Given the description of an element on the screen output the (x, y) to click on. 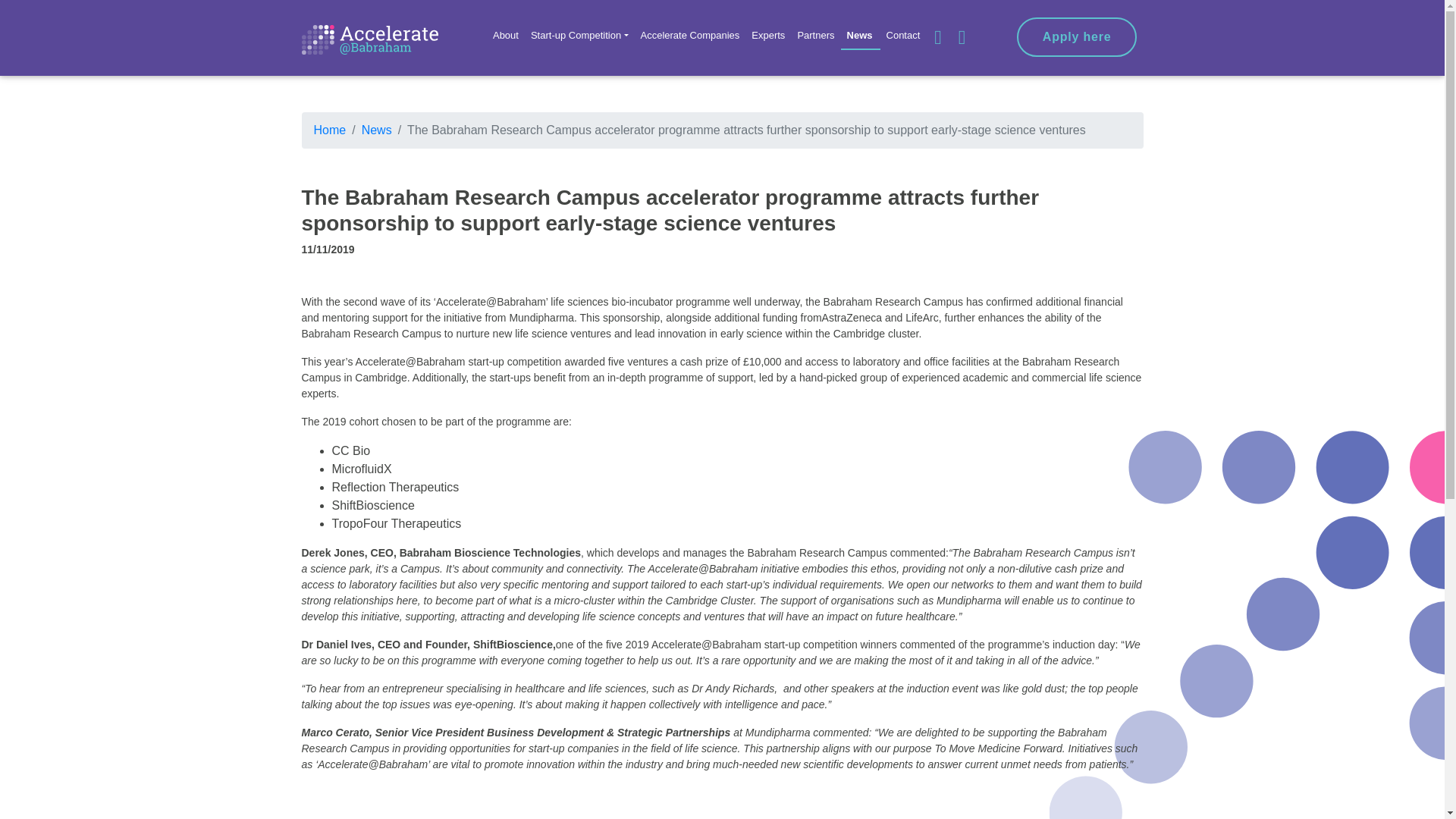
Contact (903, 35)
Apply here (1076, 36)
Start-up Competition (579, 35)
Partners (815, 35)
News (860, 35)
News (376, 130)
Home (330, 130)
About (505, 35)
Accelerate Companies (689, 35)
Experts (767, 35)
